Given the description of an element on the screen output the (x, y) to click on. 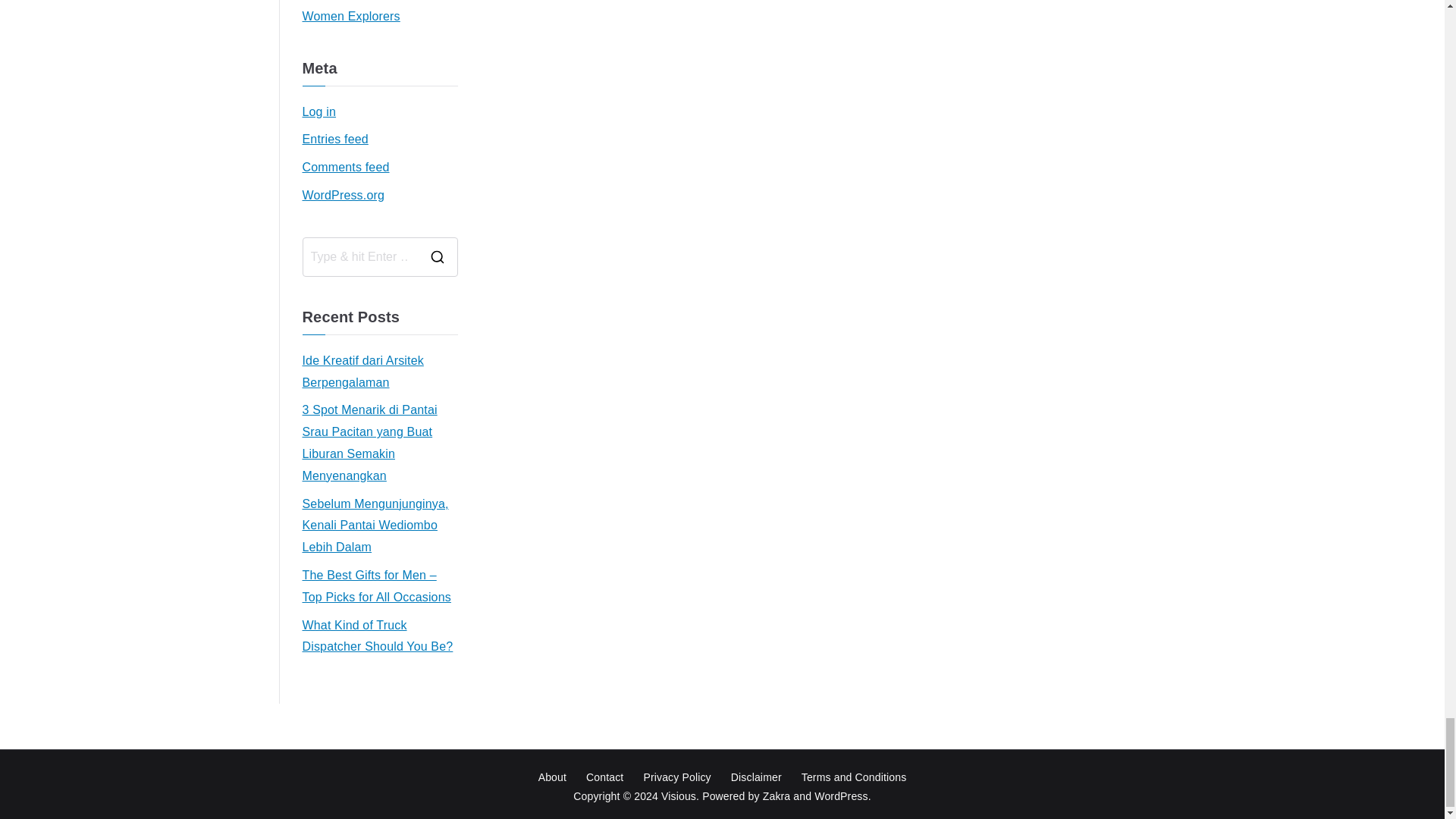
Zakra (776, 796)
WordPress (840, 796)
Visious (678, 796)
Search for: (360, 257)
